Given the description of an element on the screen output the (x, y) to click on. 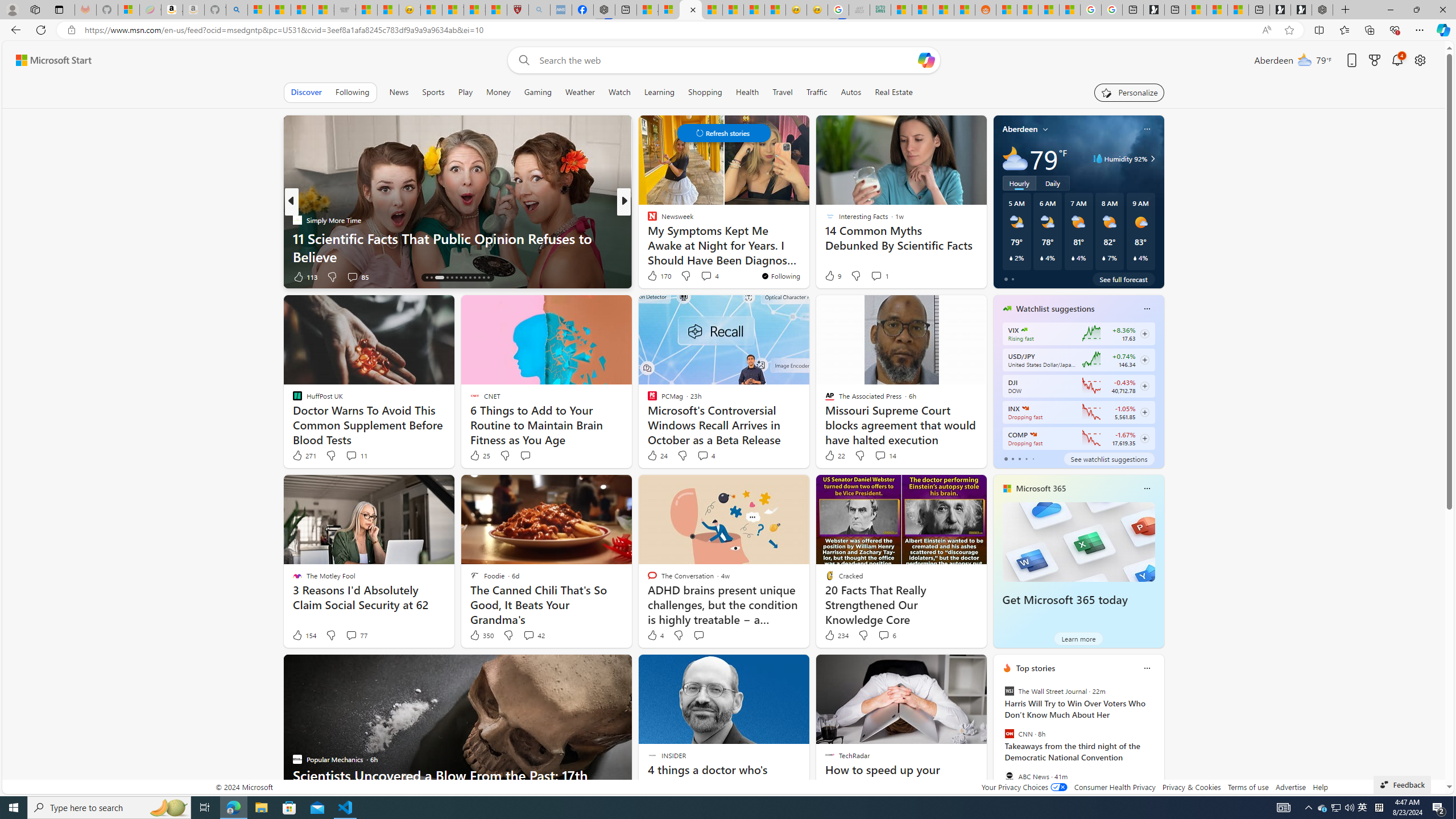
Class: control (723, 132)
104 Like (654, 276)
350 Like (480, 634)
TODAY (647, 219)
ABC News (1008, 775)
720 Like (654, 276)
